Given the description of an element on the screen output the (x, y) to click on. 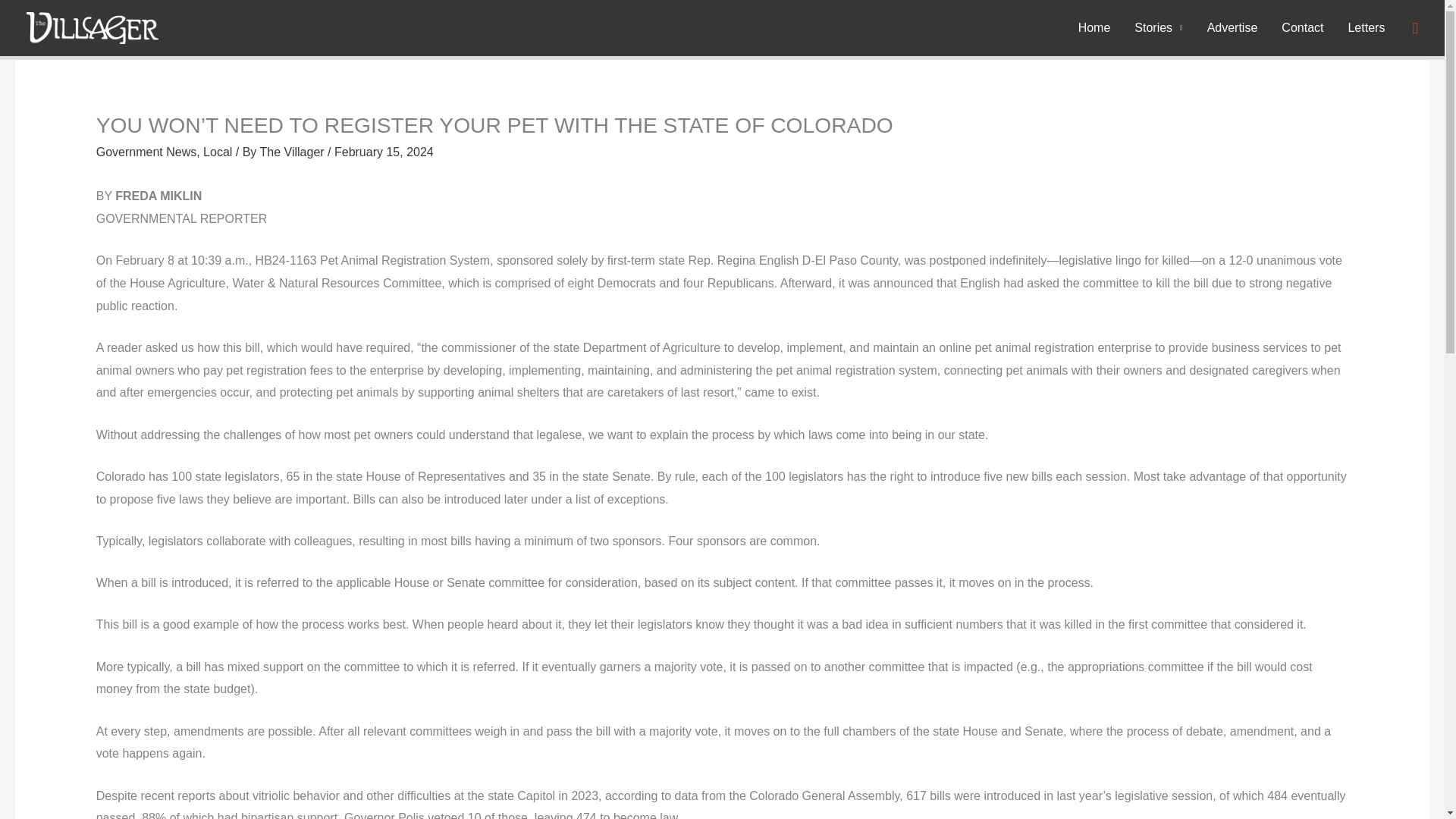
Letters (1365, 27)
Stories (1157, 27)
View all posts by The Villager (294, 151)
Home (1093, 27)
Search (62, 28)
Contact (1302, 27)
Advertise (1232, 27)
